Given the description of an element on the screen output the (x, y) to click on. 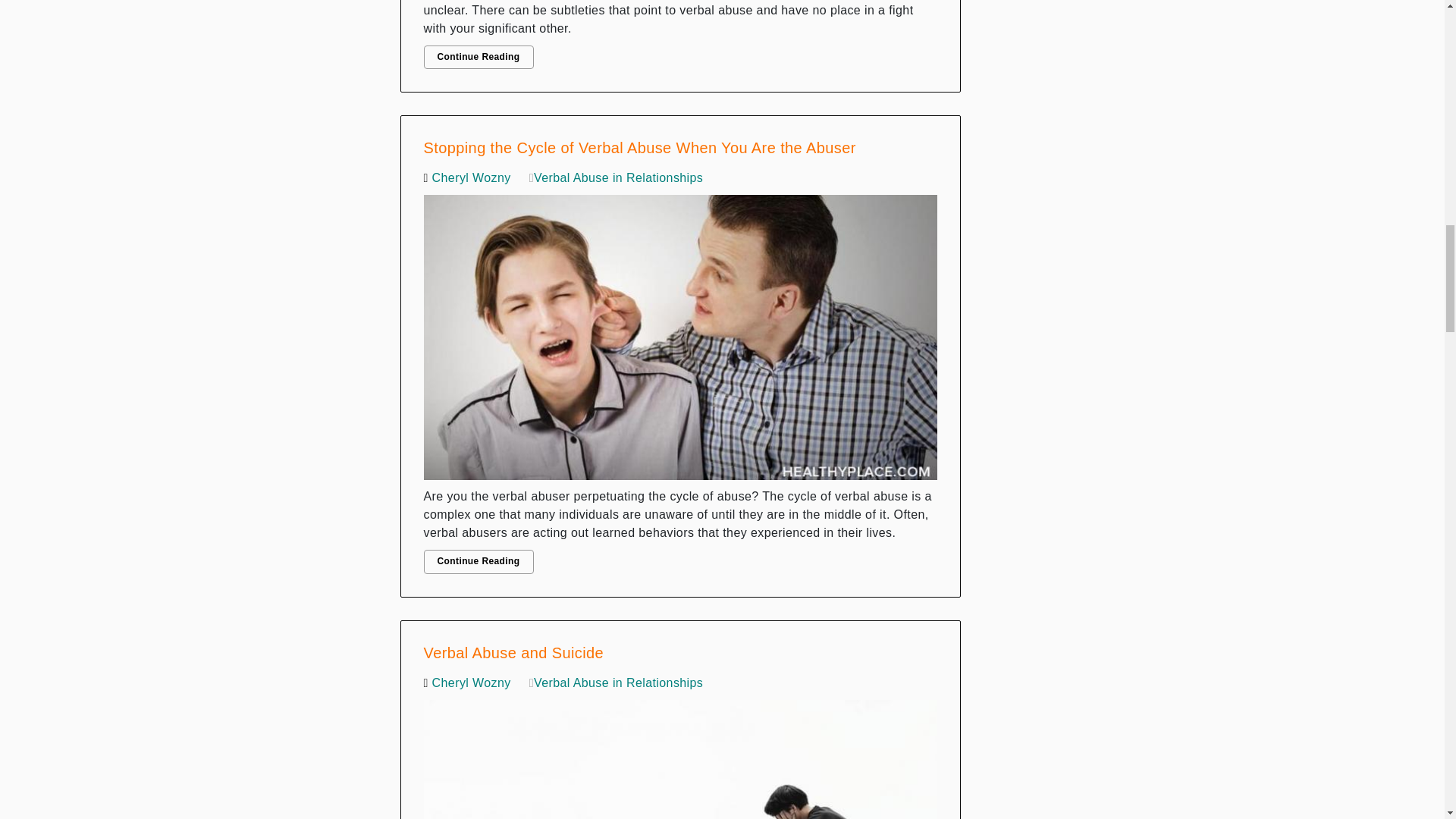
Verbal Abuse and Suicide (680, 755)
